Given the description of an element on the screen output the (x, y) to click on. 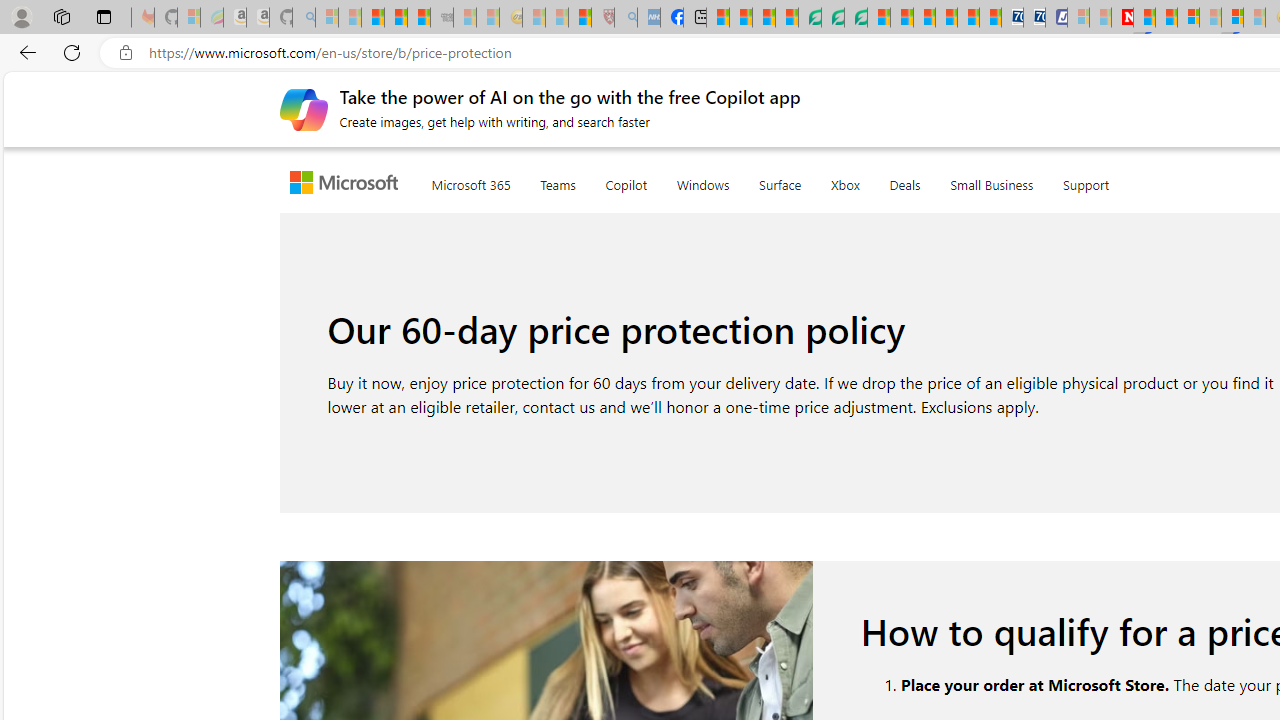
Microsoft account | Privacy - Sleeping (1078, 17)
Microsoft Word - consumer-privacy address update 2.2021 (855, 17)
Copilot (625, 180)
Local - MSN (580, 17)
